Given the description of an element on the screen output the (x, y) to click on. 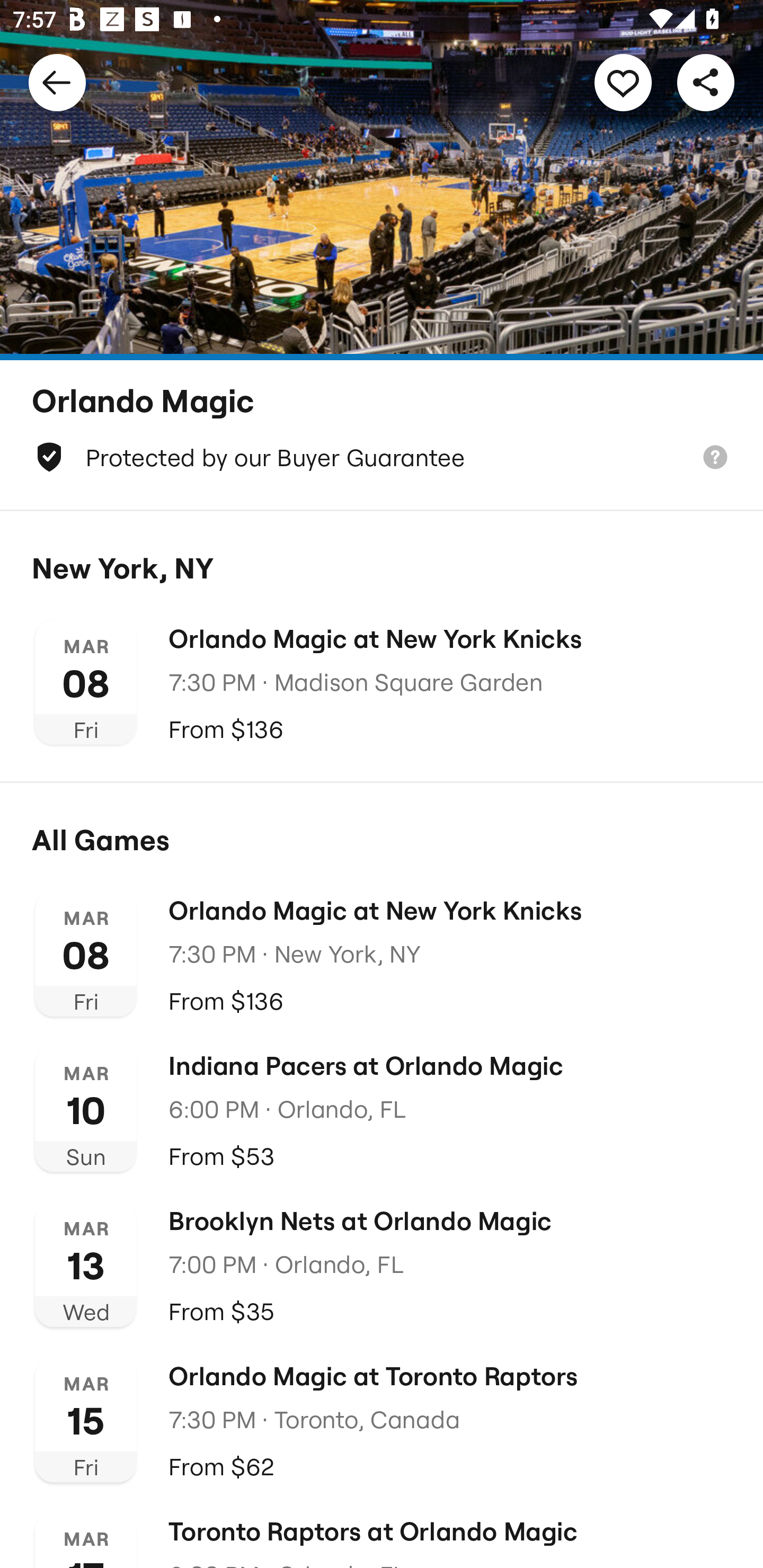
Back (57, 81)
Track this performer (623, 81)
Share this performer (705, 81)
Protected by our Buyer Guarantee Learn more (381, 456)
